Given the description of an element on the screen output the (x, y) to click on. 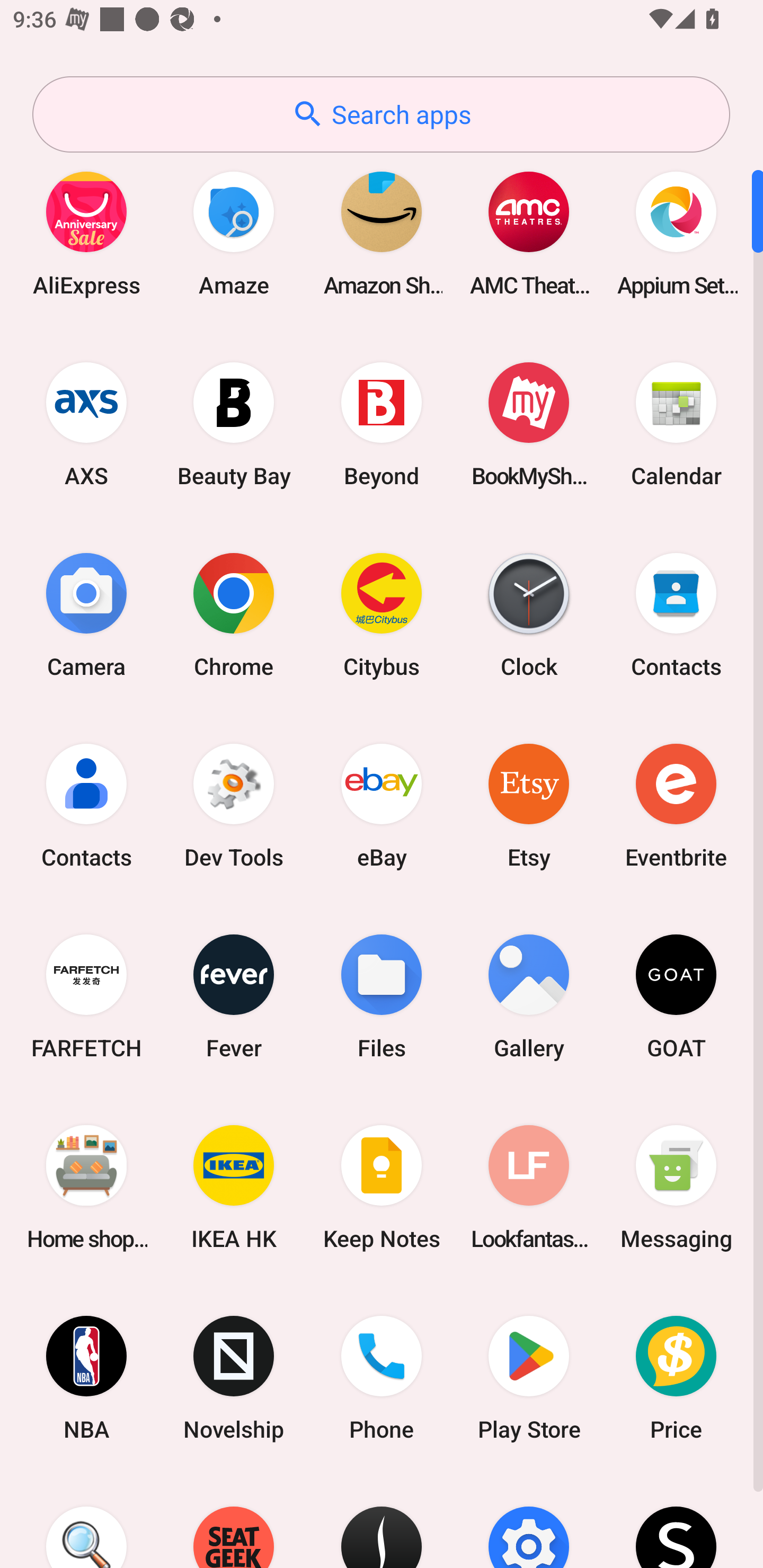
  Search apps (381, 114)
AliExpress (86, 233)
Amaze (233, 233)
Amazon Shopping (381, 233)
AMC Theatres (528, 233)
Appium Settings (676, 233)
AXS (86, 424)
Beauty Bay (233, 424)
Beyond (381, 424)
BookMyShow (528, 424)
Calendar (676, 424)
Camera (86, 614)
Chrome (233, 614)
Citybus (381, 614)
Clock (528, 614)
Contacts (676, 614)
Contacts (86, 805)
Dev Tools (233, 805)
eBay (381, 805)
Etsy (528, 805)
Eventbrite (676, 805)
FARFETCH (86, 996)
Fever (233, 996)
Files (381, 996)
Gallery (528, 996)
GOAT (676, 996)
Home shopping (86, 1186)
IKEA HK (233, 1186)
Keep Notes (381, 1186)
Lookfantastic (528, 1186)
Messaging (676, 1186)
NBA (86, 1377)
Novelship (233, 1377)
Phone (381, 1377)
Play Store (528, 1377)
Price (676, 1377)
